Given the description of an element on the screen output the (x, y) to click on. 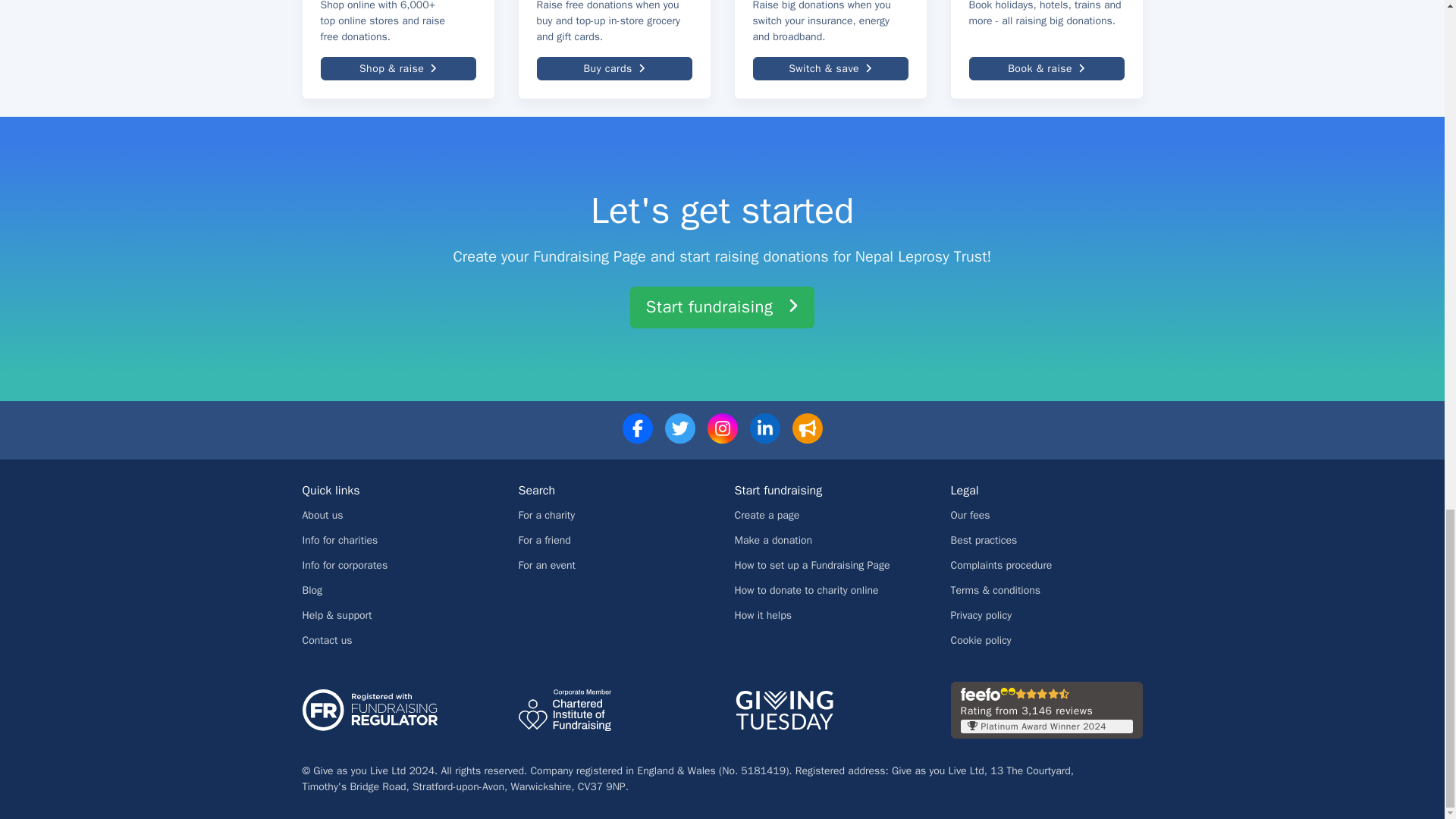
Buy cards (615, 68)
4.7 stars out of 5 (1041, 694)
